Given the description of an element on the screen output the (x, y) to click on. 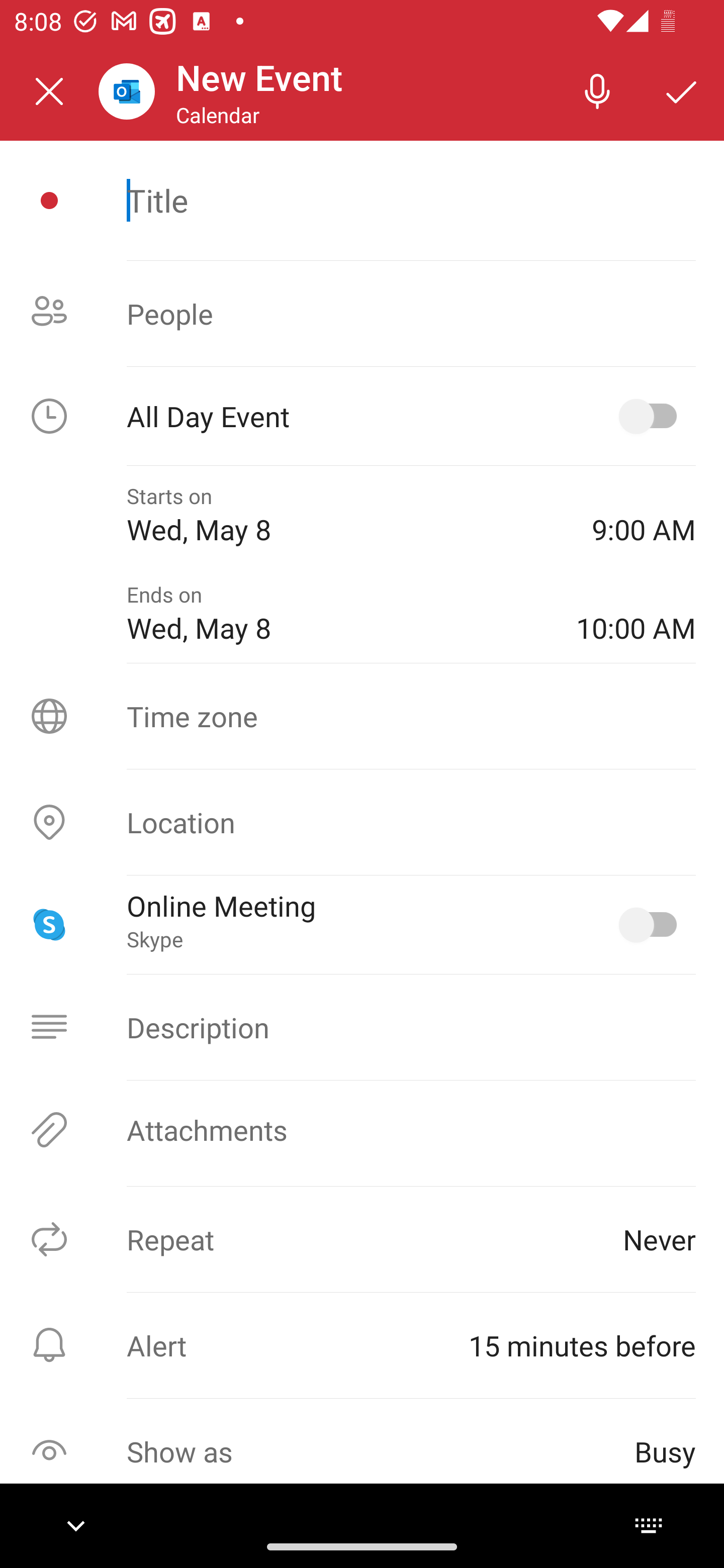
Close (49, 91)
Save (681, 90)
Title (410, 200)
Event icon picker (48, 200)
People (362, 313)
All Day Event (362, 415)
Starts on Wed, May 8 (344, 514)
9:00 AM (643, 514)
Ends on Wed, May 8 (336, 613)
10:00 AM (635, 613)
Time zone (362, 715)
Location (362, 821)
Online Meeting, Skype selected (651, 923)
Description (362, 1026)
Attachments (362, 1129)
Repeat Never (362, 1239)
Alert ⁨15 minutes before (362, 1345)
Show as Busy (362, 1450)
